Given the description of an element on the screen output the (x, y) to click on. 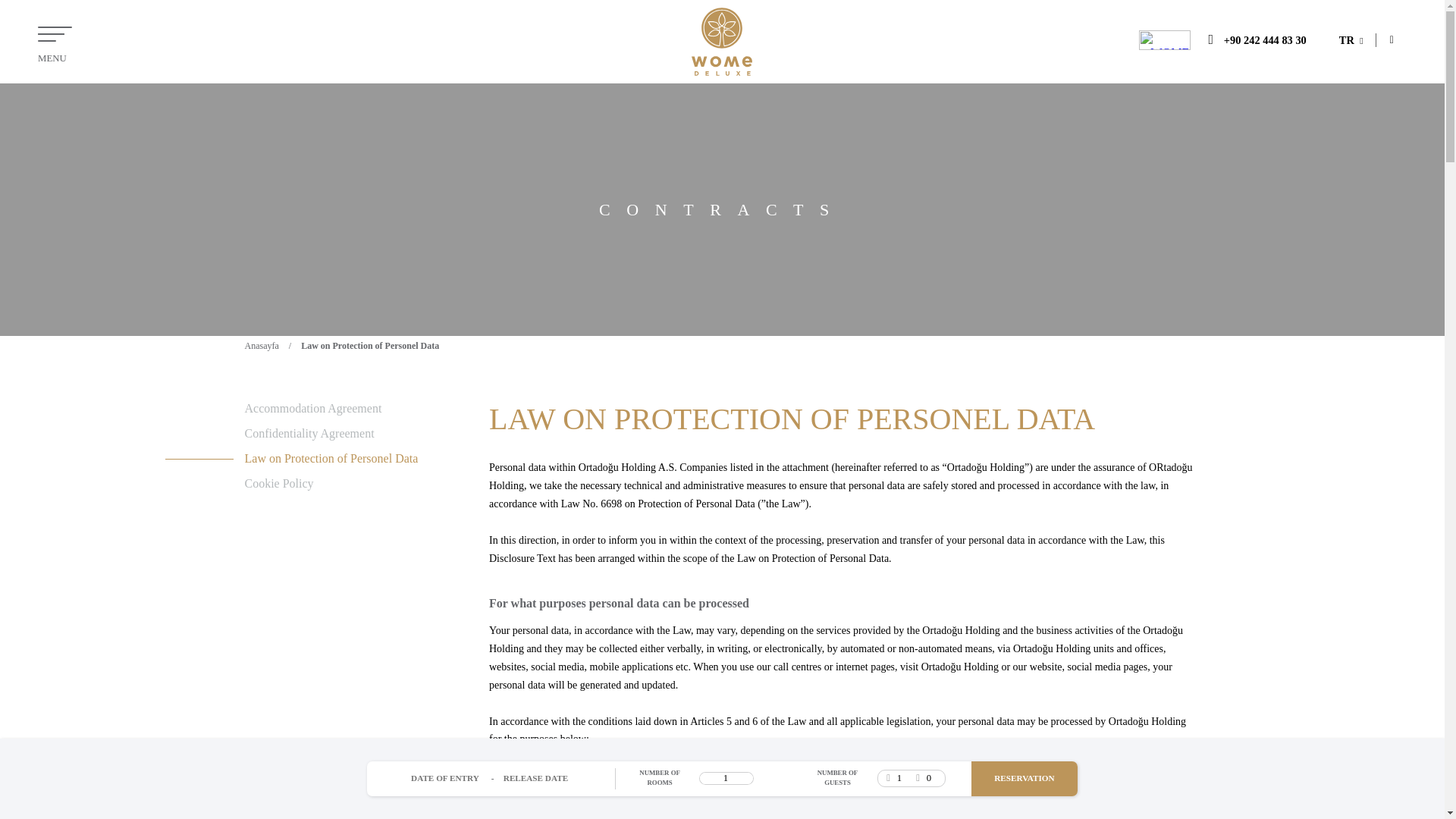
1 (726, 778)
WOME DELUXE (721, 41)
TR (1351, 39)
